Given the description of an element on the screen output the (x, y) to click on. 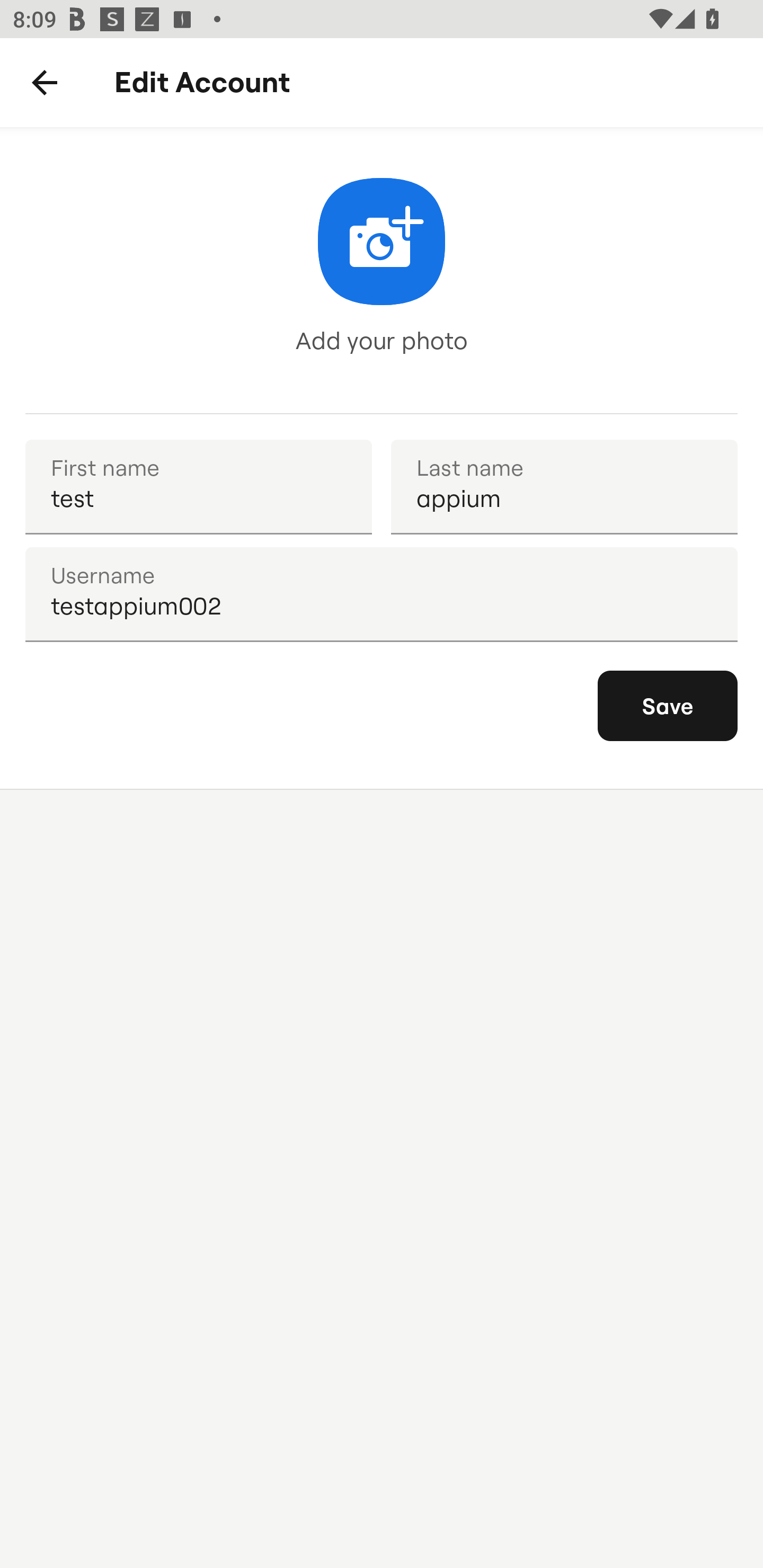
Back (44, 82)
Add your photo (381, 270)
test (198, 486)
appium (563, 486)
testappium002 (381, 594)
Save (667, 706)
